Given the description of an element on the screen output the (x, y) to click on. 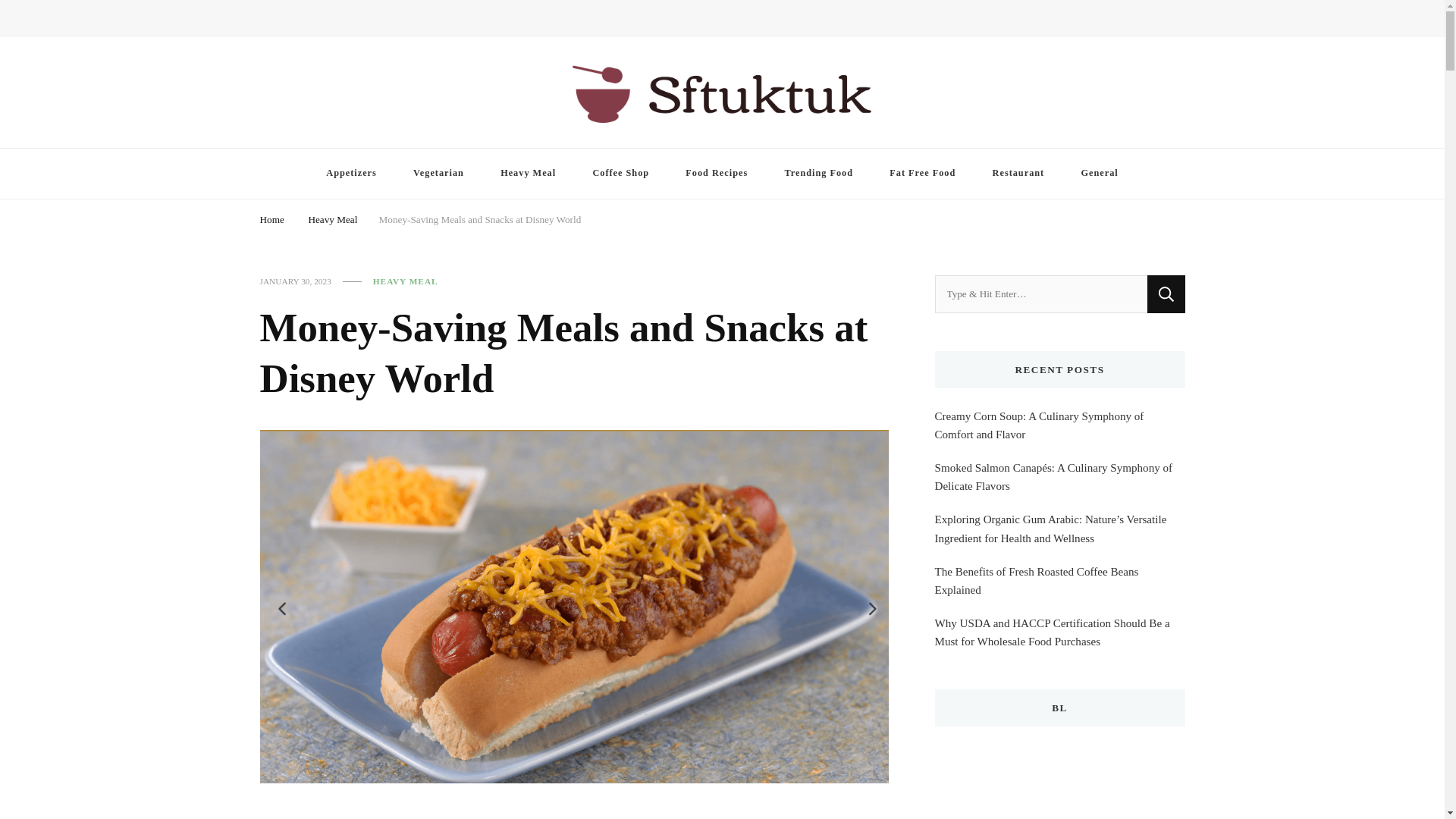
Search (1148, 22)
Home (271, 218)
Restaurant (1018, 173)
General (1099, 173)
Search (1166, 293)
Heavy Meal (527, 173)
JANUARY 30, 2023 (294, 281)
Heavy Meal (331, 218)
HEAVY MEAL (405, 281)
Search (1166, 293)
Food Recipes (716, 173)
Vegetarian (438, 173)
Money-Saving Meals and Snacks at Disney World (479, 218)
Fat Free Food (922, 173)
